Given the description of an element on the screen output the (x, y) to click on. 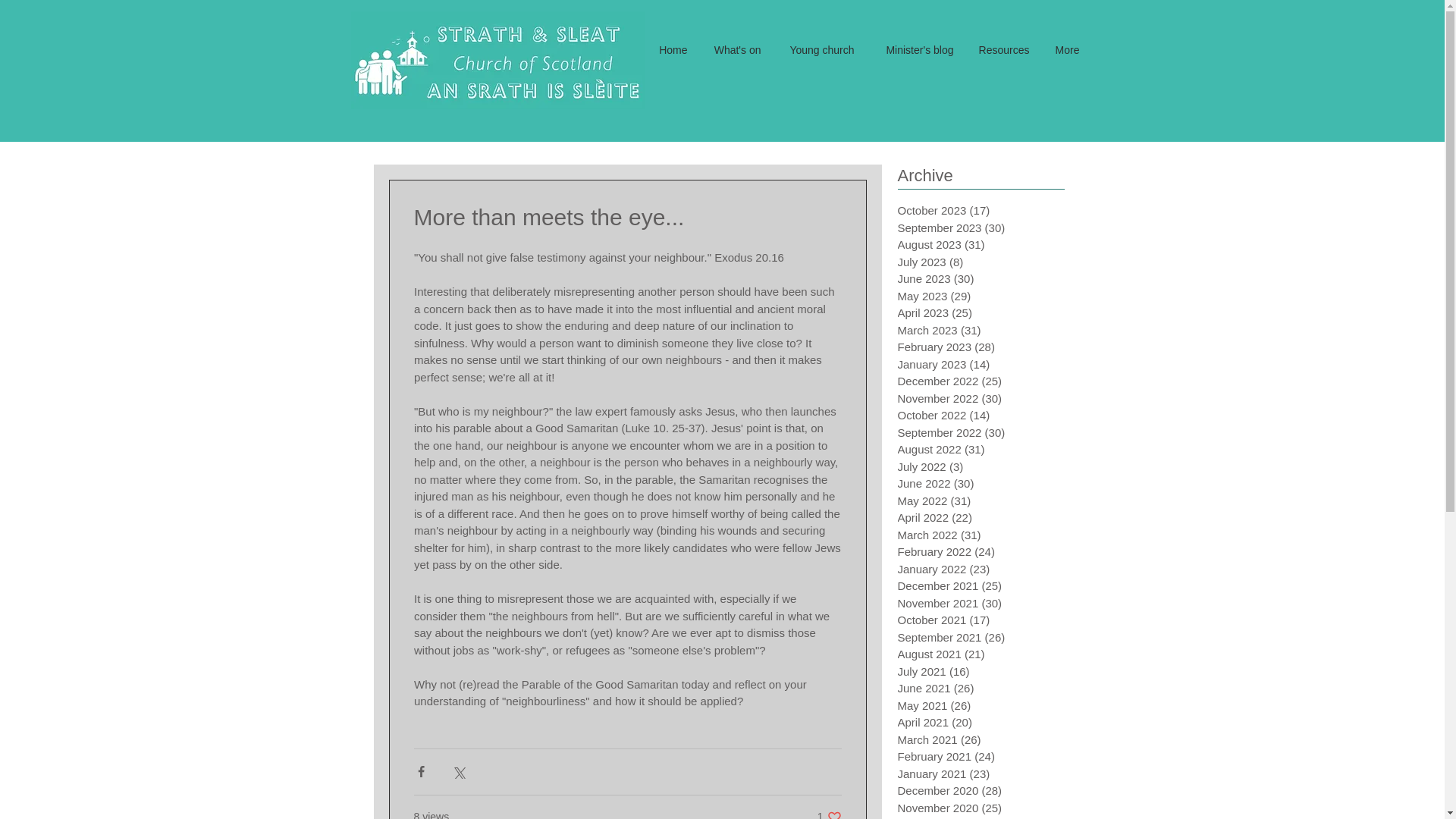
Young church (817, 50)
Minister's blog (915, 50)
What's on (828, 814)
Resources (735, 50)
Home (1002, 50)
